Given the description of an element on the screen output the (x, y) to click on. 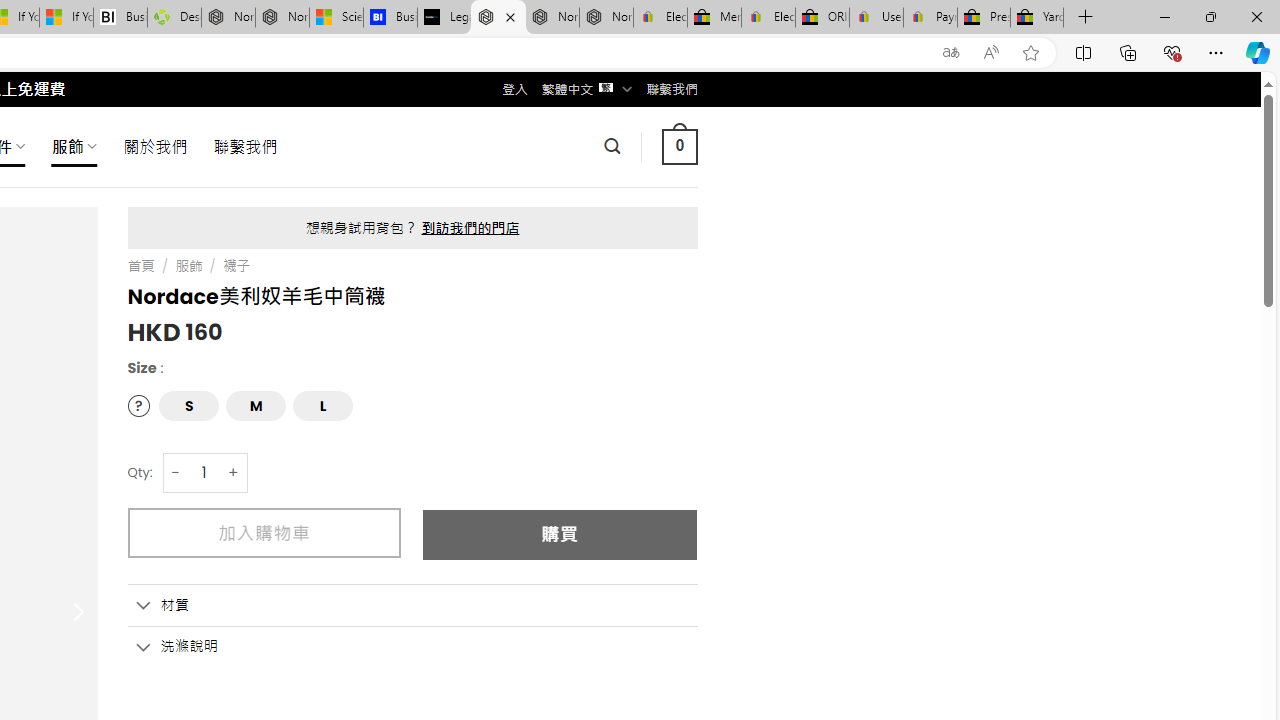
User Privacy Notice | eBay (875, 17)
Show translate options (950, 53)
